Given the description of an element on the screen output the (x, y) to click on. 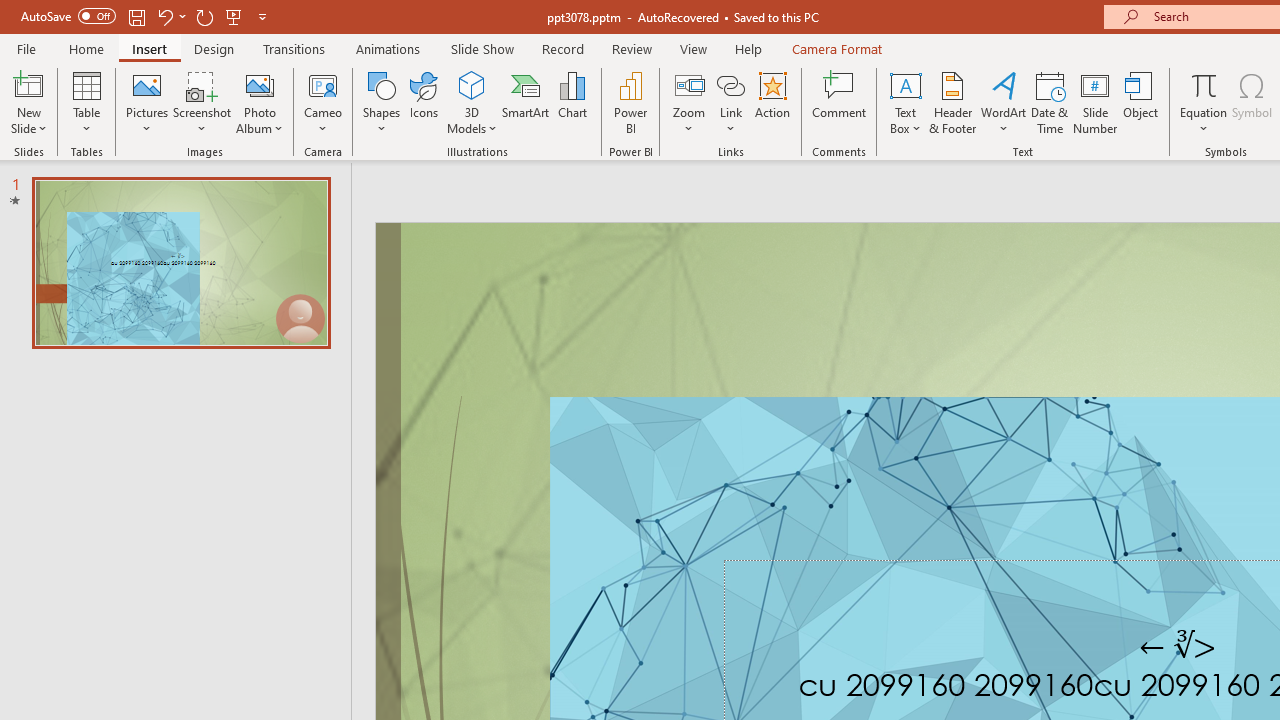
3D Models (472, 102)
Screenshot (202, 102)
Object... (1141, 102)
Action (772, 102)
Equation (1203, 102)
Date & Time... (1050, 102)
